Given the description of an element on the screen output the (x, y) to click on. 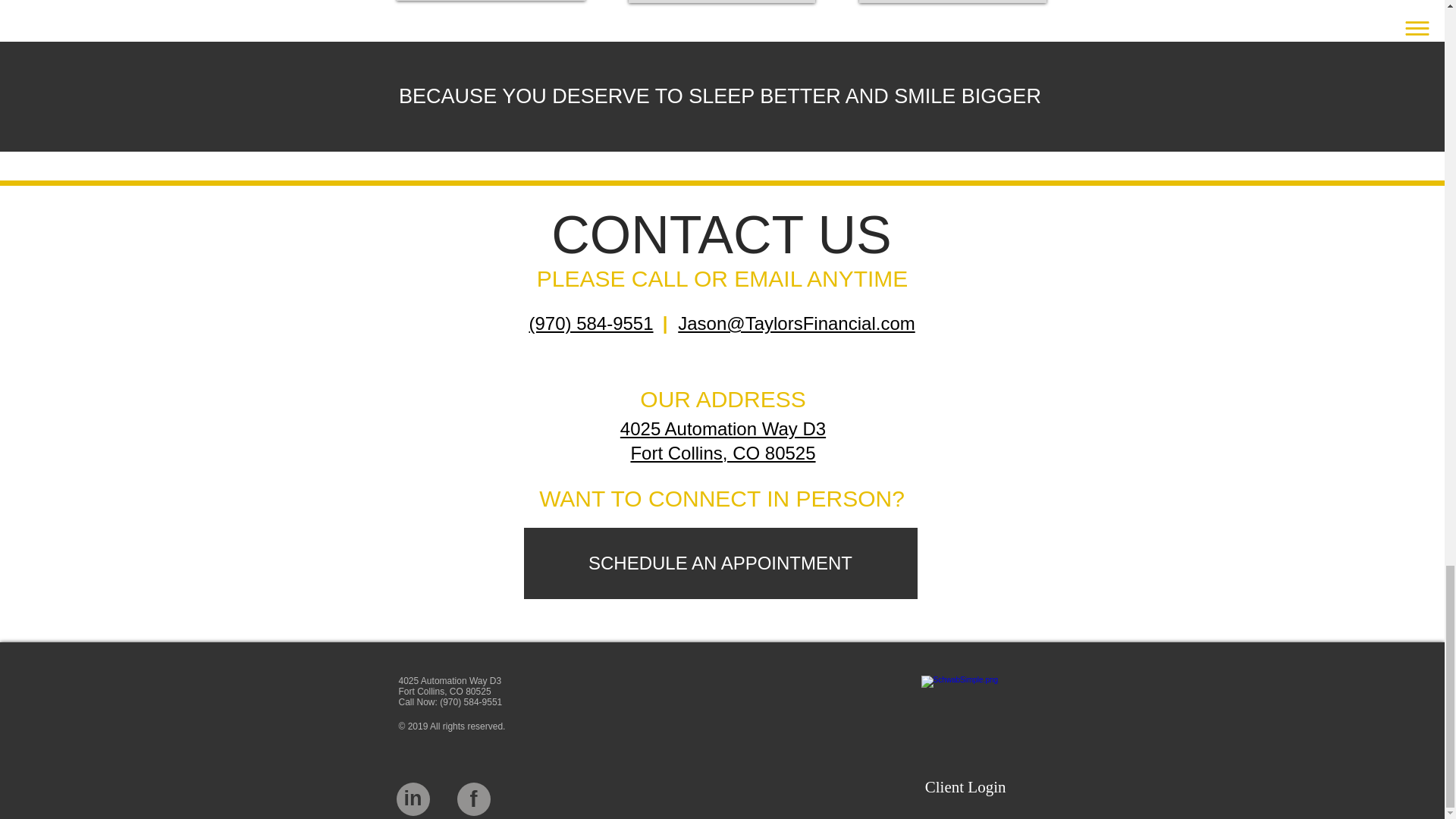
f (473, 798)
in (722, 439)
SCHEDULE AN APPOINTMENT (412, 798)
